Given the description of an element on the screen output the (x, y) to click on. 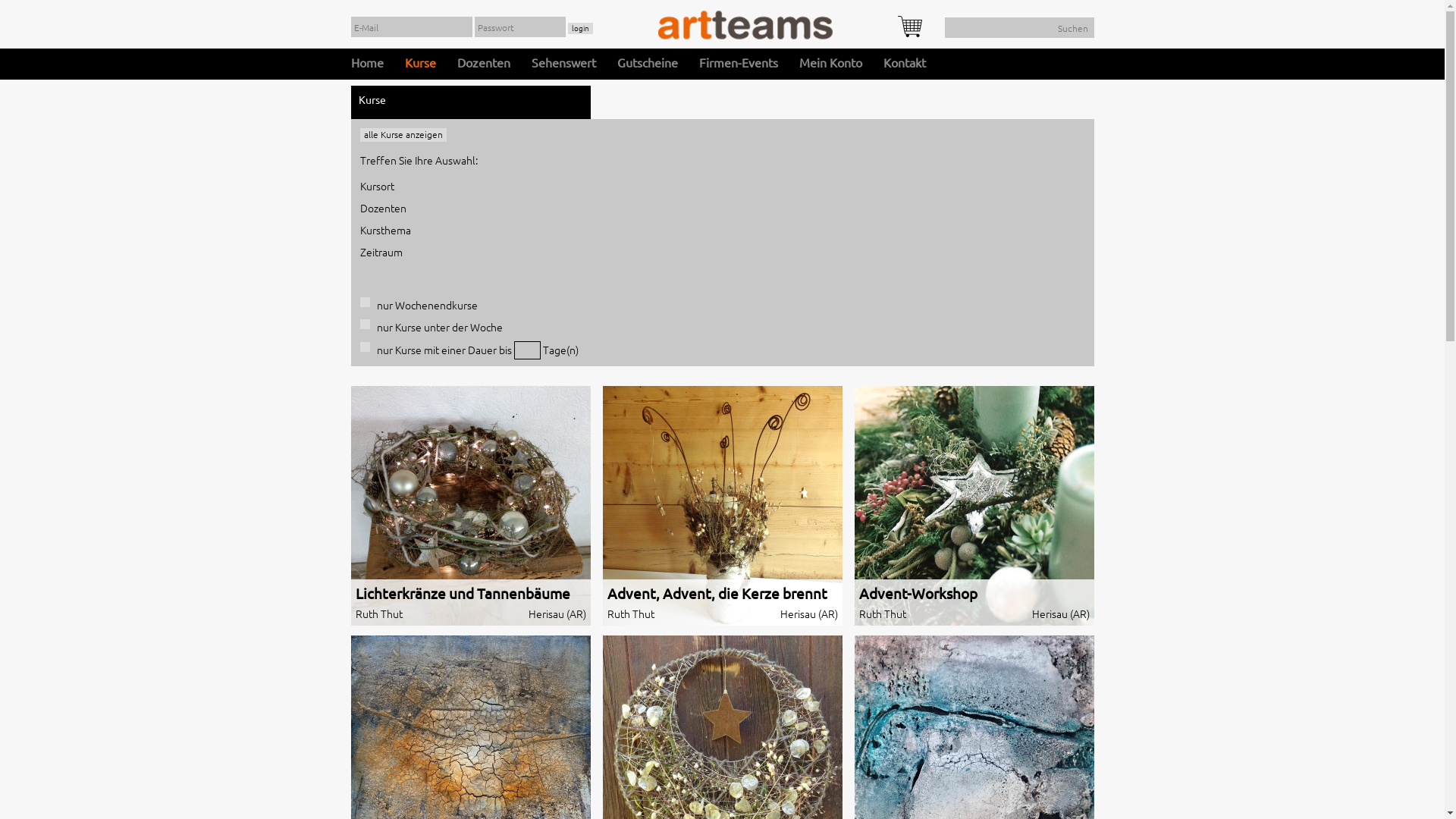
Kursort Element type: text (376, 185)
Zeitraum Element type: text (380, 251)
artteams Element type: text (745, 24)
Dozenten Element type: text (482, 63)
Kontakt Element type: text (903, 63)
Gutscheine Element type: text (647, 63)
Kursthema Element type: text (384, 229)
alle Kurse anzeigen Element type: text (402, 134)
Kurse Element type: text (420, 63)
Advent, Advent, die Kerze brennt
Ruth Thut
Herisau (AR) Element type: text (721, 505)
Firmen-Events Element type: text (738, 63)
Home Element type: text (366, 63)
Dozenten Element type: text (382, 207)
login Element type: text (579, 28)
Warenkorb Element type: hover (909, 26)
Sehenswert Element type: text (562, 63)
Advent-Workshop
Ruth Thut
Herisau (AR) Element type: text (973, 505)
Mein Konto Element type: text (830, 63)
